Given the description of an element on the screen output the (x, y) to click on. 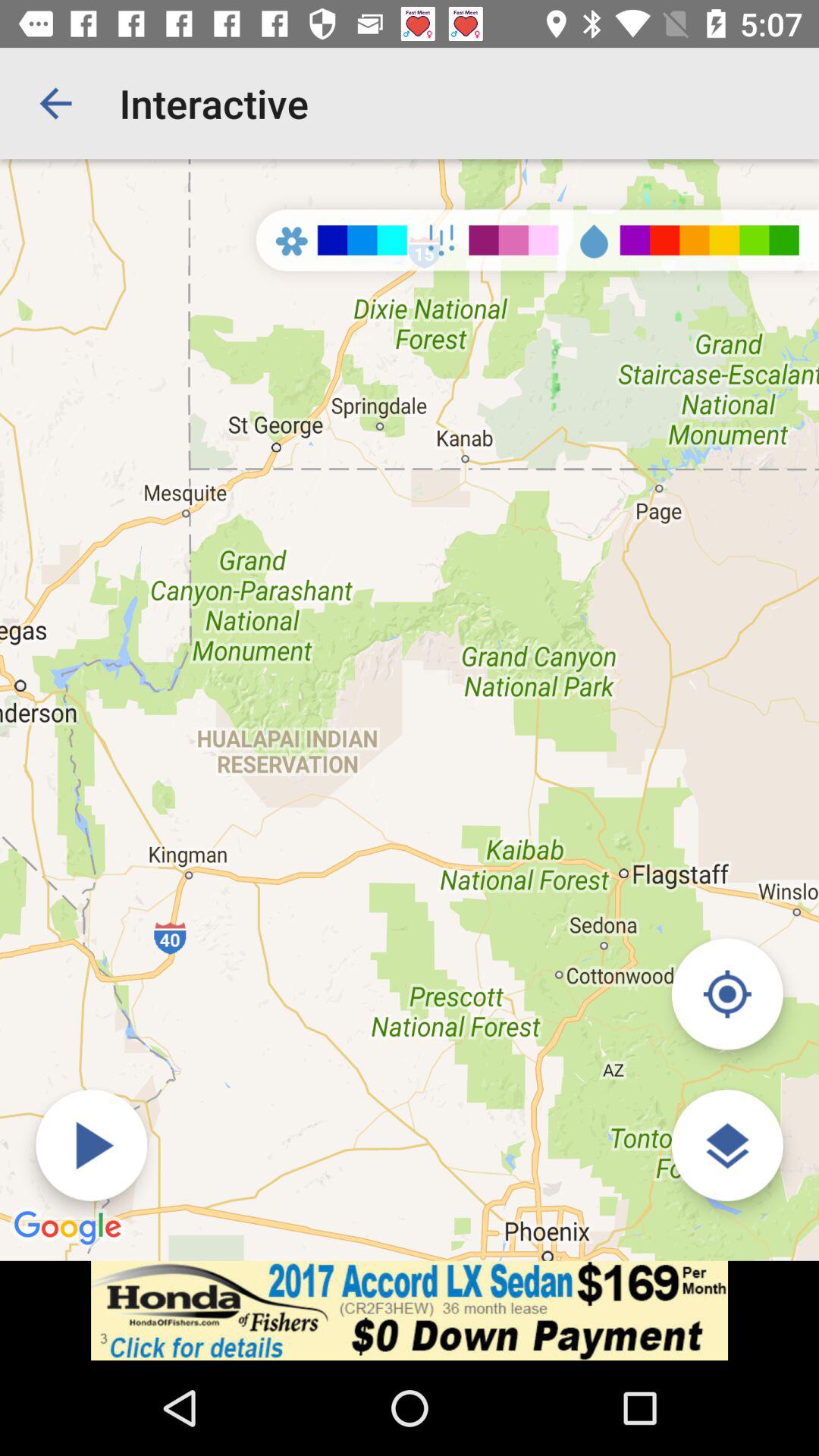
recenter (727, 993)
